Given the description of an element on the screen output the (x, y) to click on. 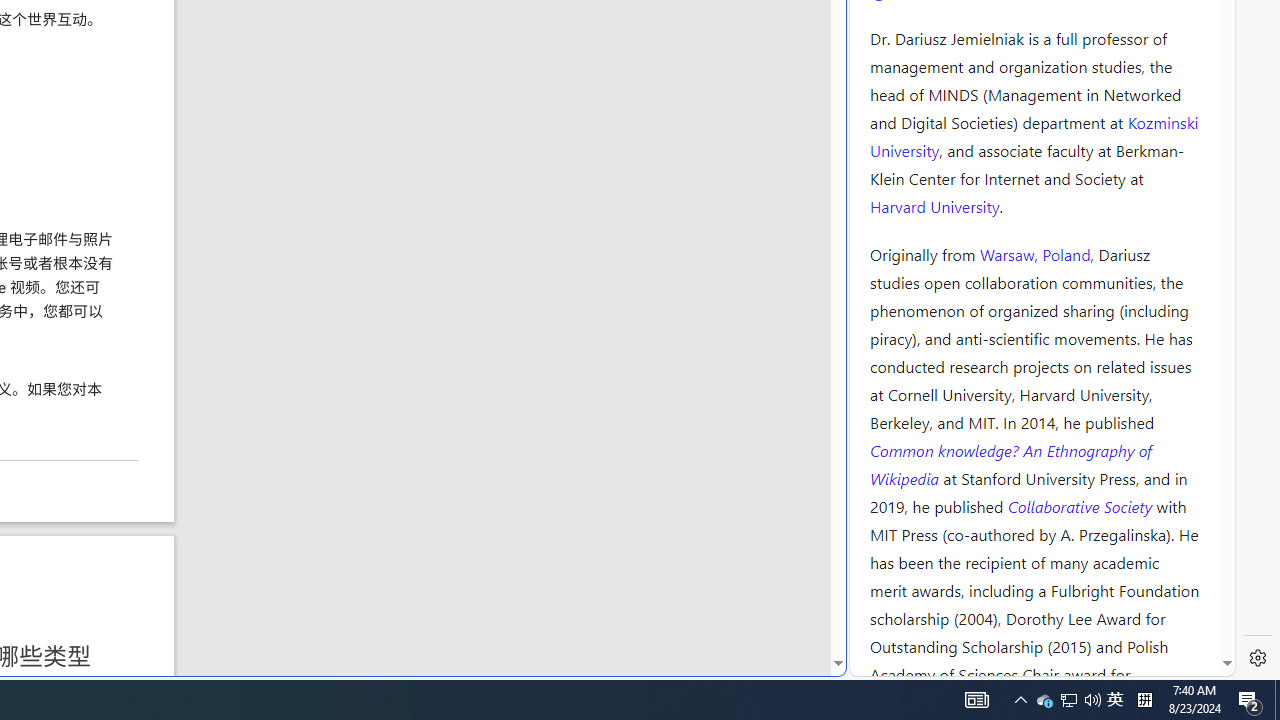
Warsaw (1006, 253)
Collaborative Society  (1082, 505)
Common knowledge? An Ethnography of Wikipedia (1010, 463)
Harvard University (934, 205)
Kozminski University (1034, 136)
